Given the description of an element on the screen output the (x, y) to click on. 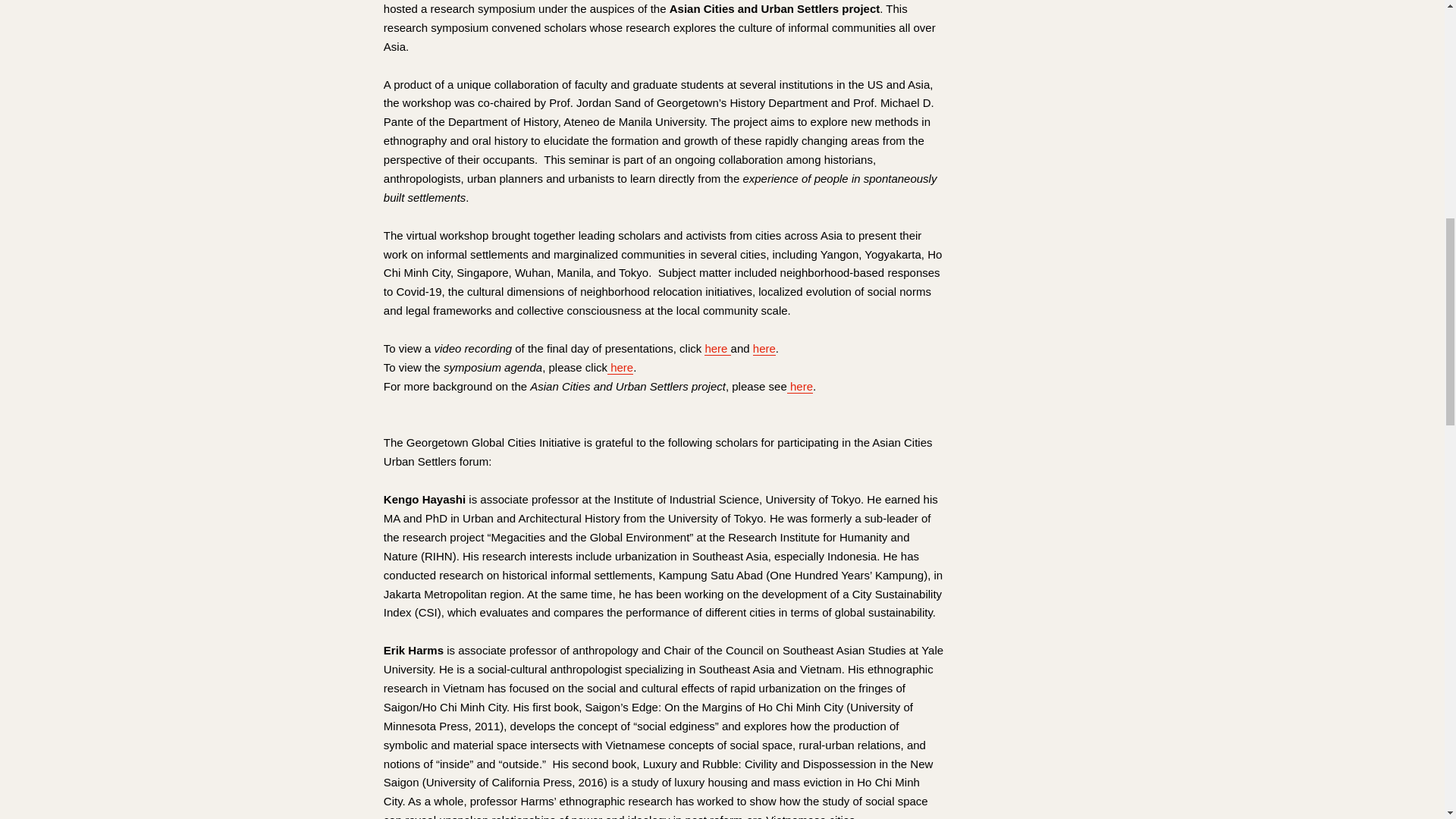
here (620, 367)
here (717, 348)
here (764, 348)
here (799, 386)
